Given the description of an element on the screen output the (x, y) to click on. 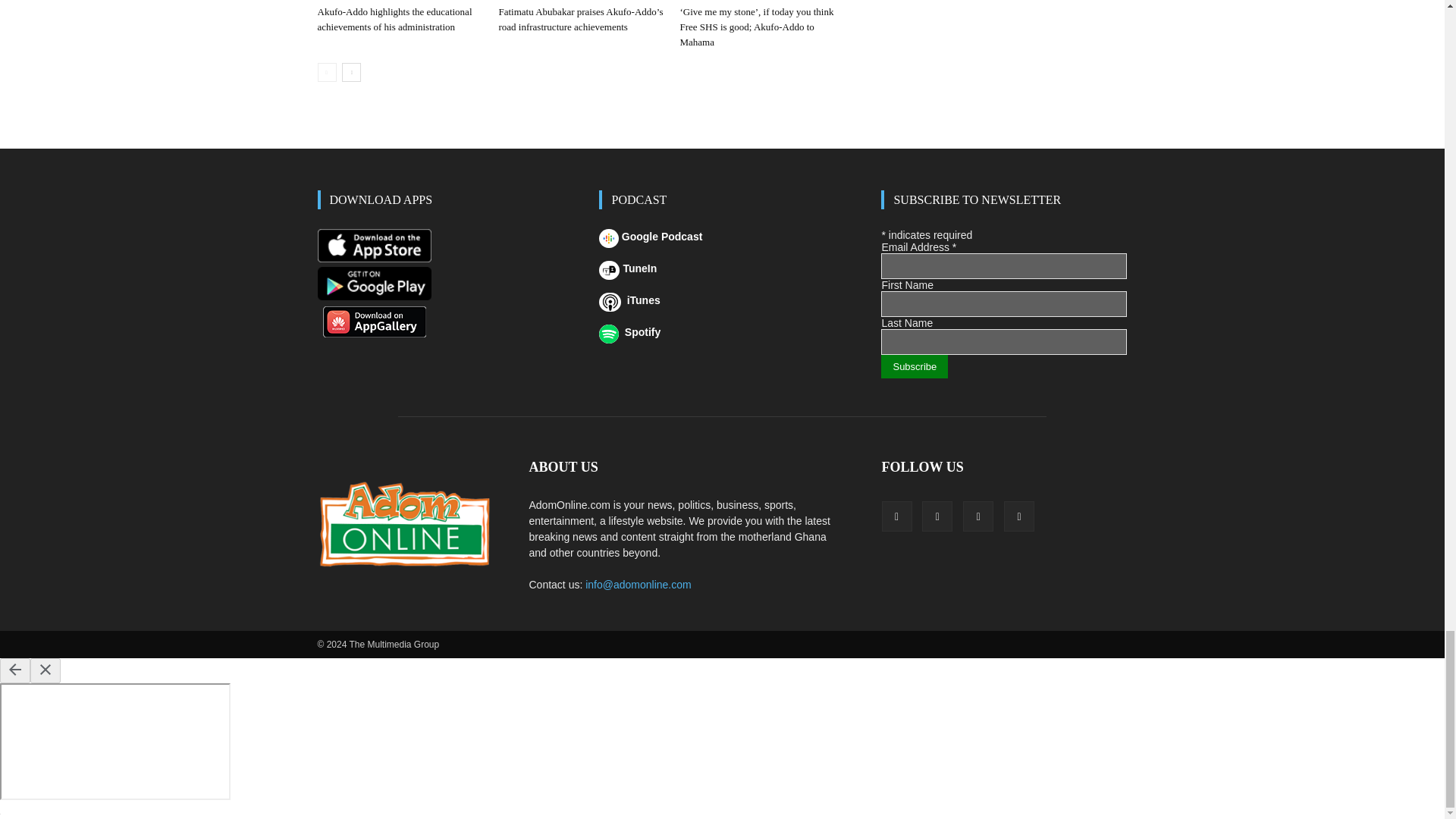
Subscribe (913, 366)
